Given the description of an element on the screen output the (x, y) to click on. 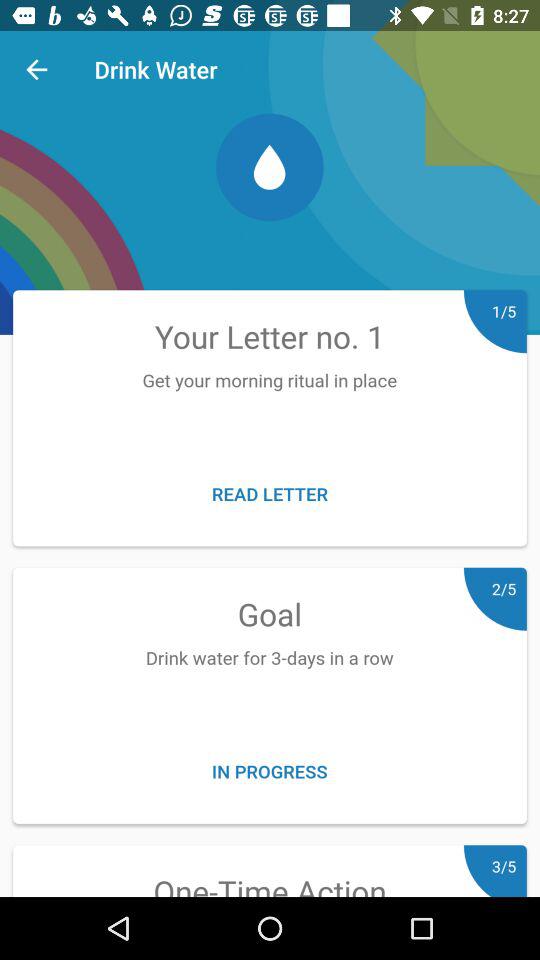
scroll until in progress item (269, 770)
